Given the description of an element on the screen output the (x, y) to click on. 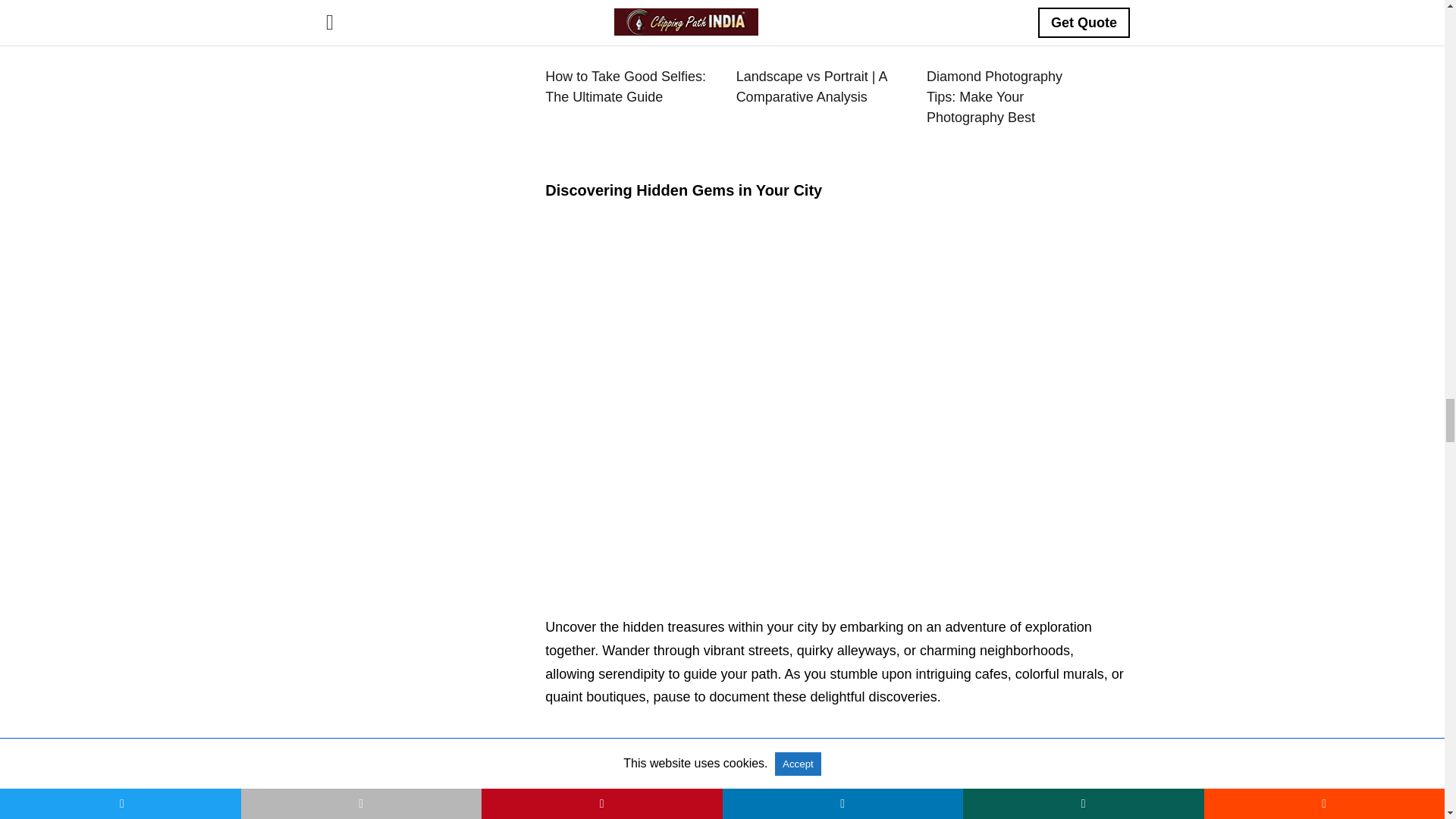
Diamond Photography Tips: Make Your Photography Best (1010, 96)
How to Take Good Selfies: The Ultimate Guide (628, 86)
